Given the description of an element on the screen output the (x, y) to click on. 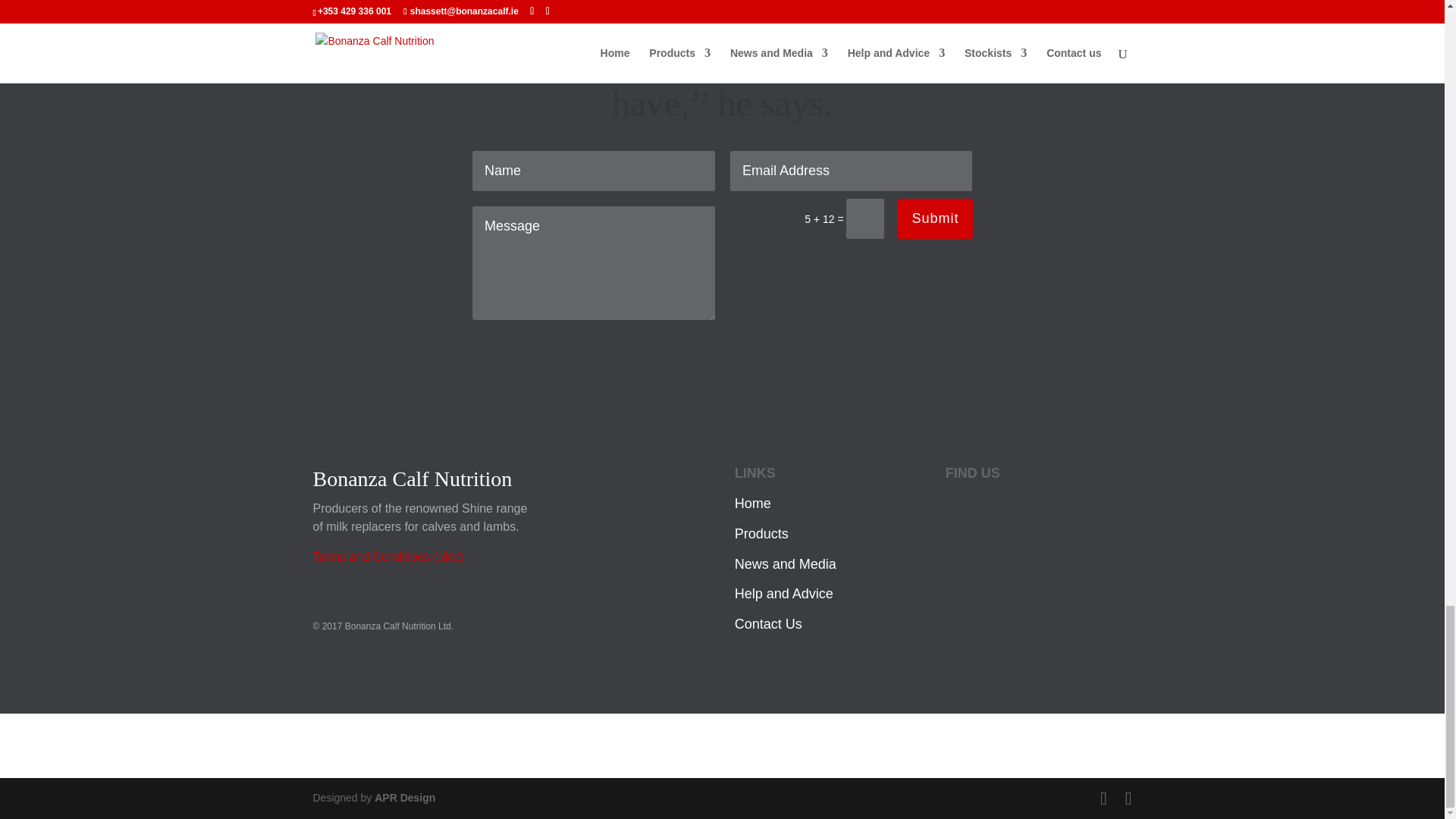
APR Design (404, 797)
Submit (935, 219)
Products (762, 533)
Home (753, 503)
